Given the description of an element on the screen output the (x, y) to click on. 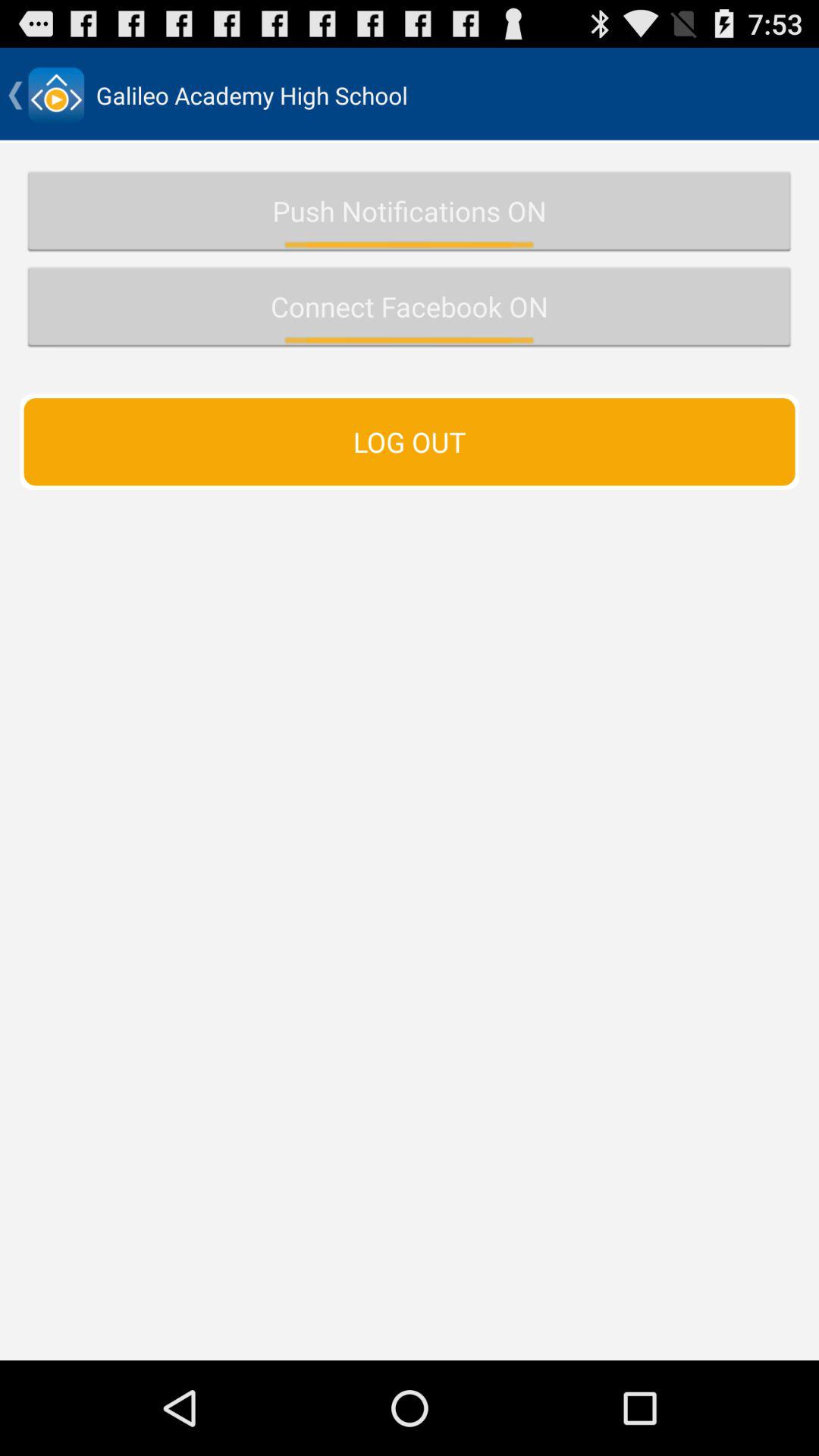
select the icon below the connect facebook on (409, 441)
